Given the description of an element on the screen output the (x, y) to click on. 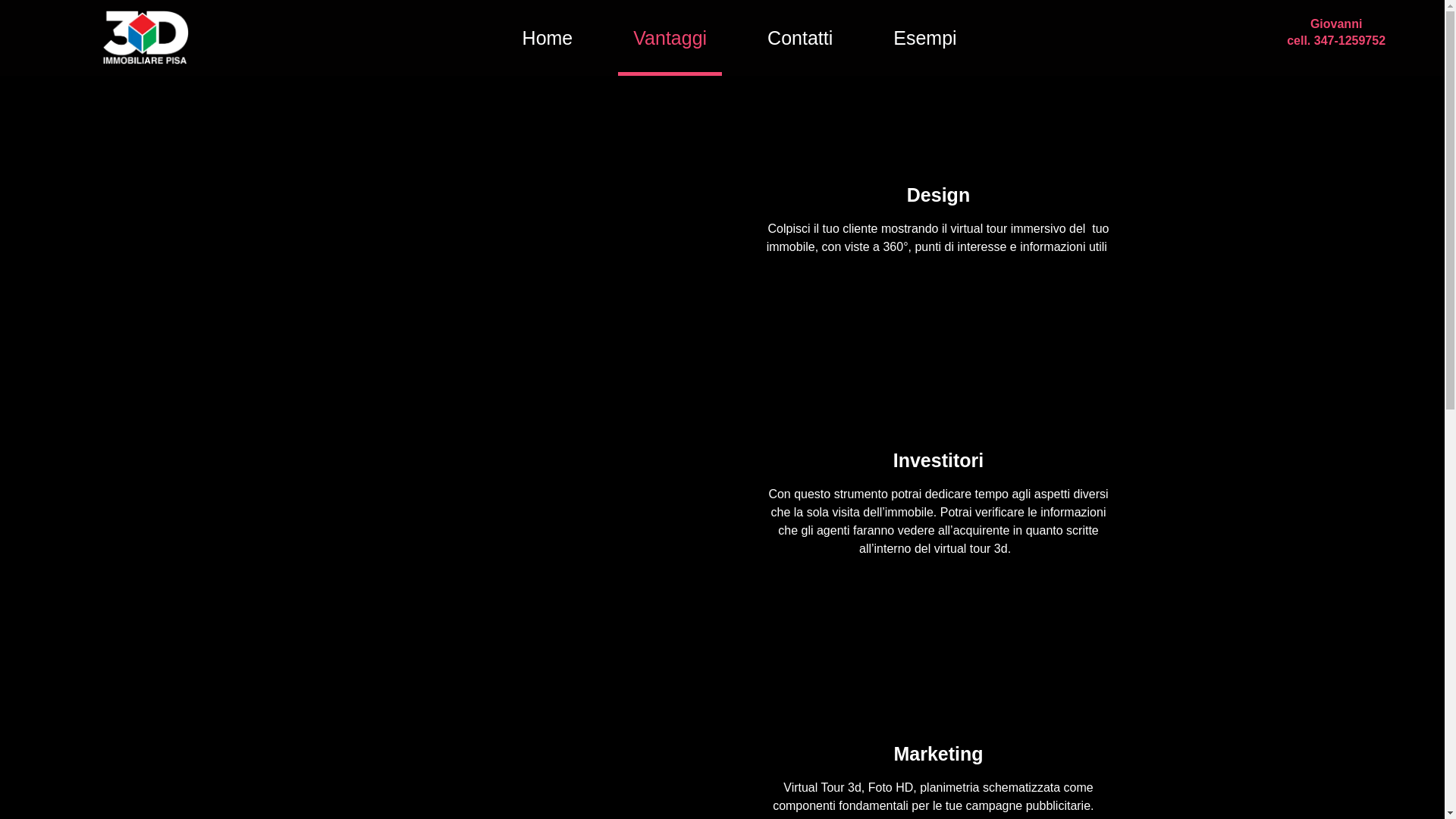
Esempi Element type: text (924, 37)
Contatti Element type: text (799, 37)
Home Element type: text (547, 37)
Vantaggi Element type: text (669, 37)
